Given the description of an element on the screen output the (x, y) to click on. 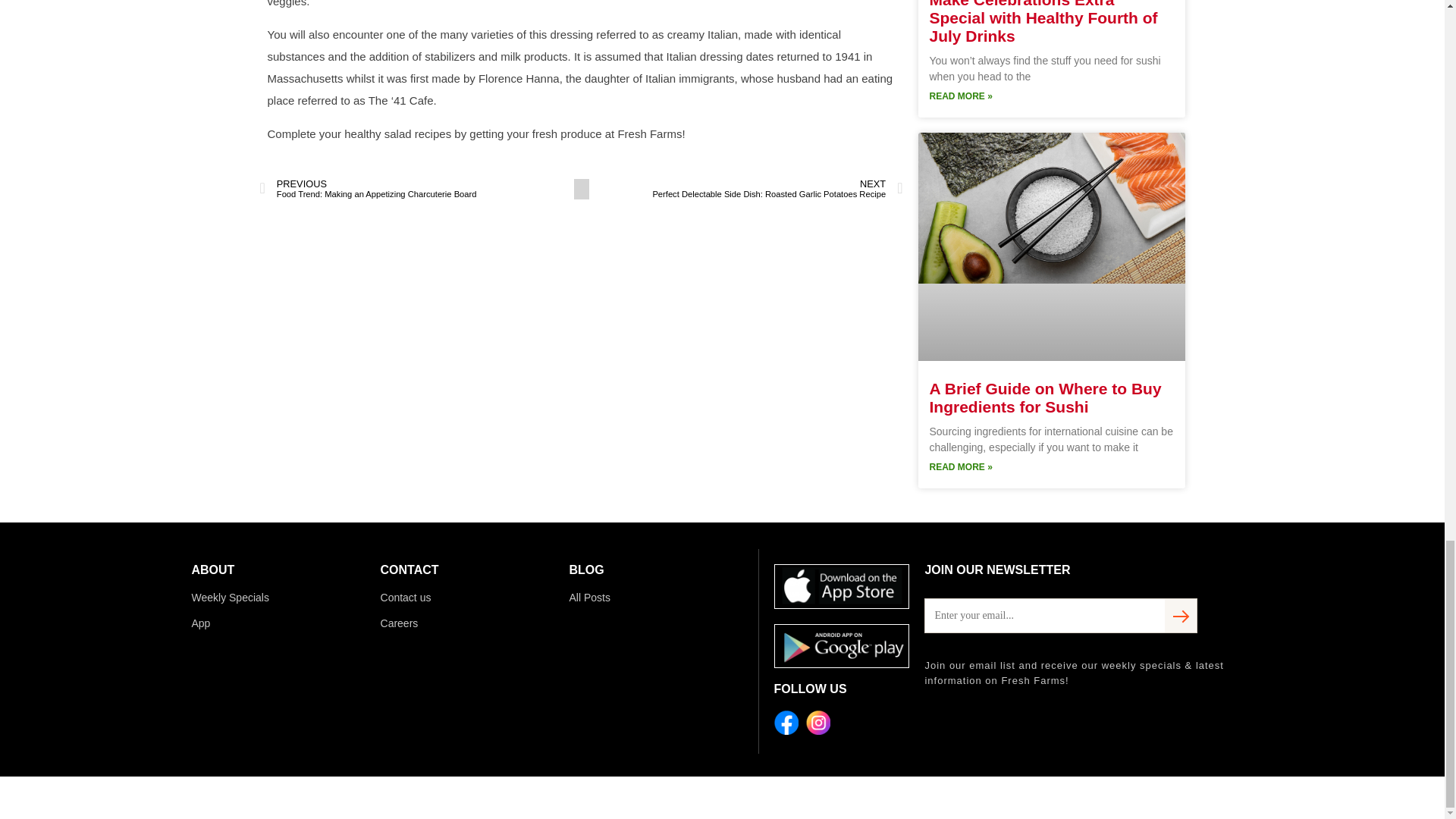
apple (842, 586)
Subscribe (1179, 615)
insta (817, 722)
google (842, 646)
FB (785, 722)
